Given the description of an element on the screen output the (x, y) to click on. 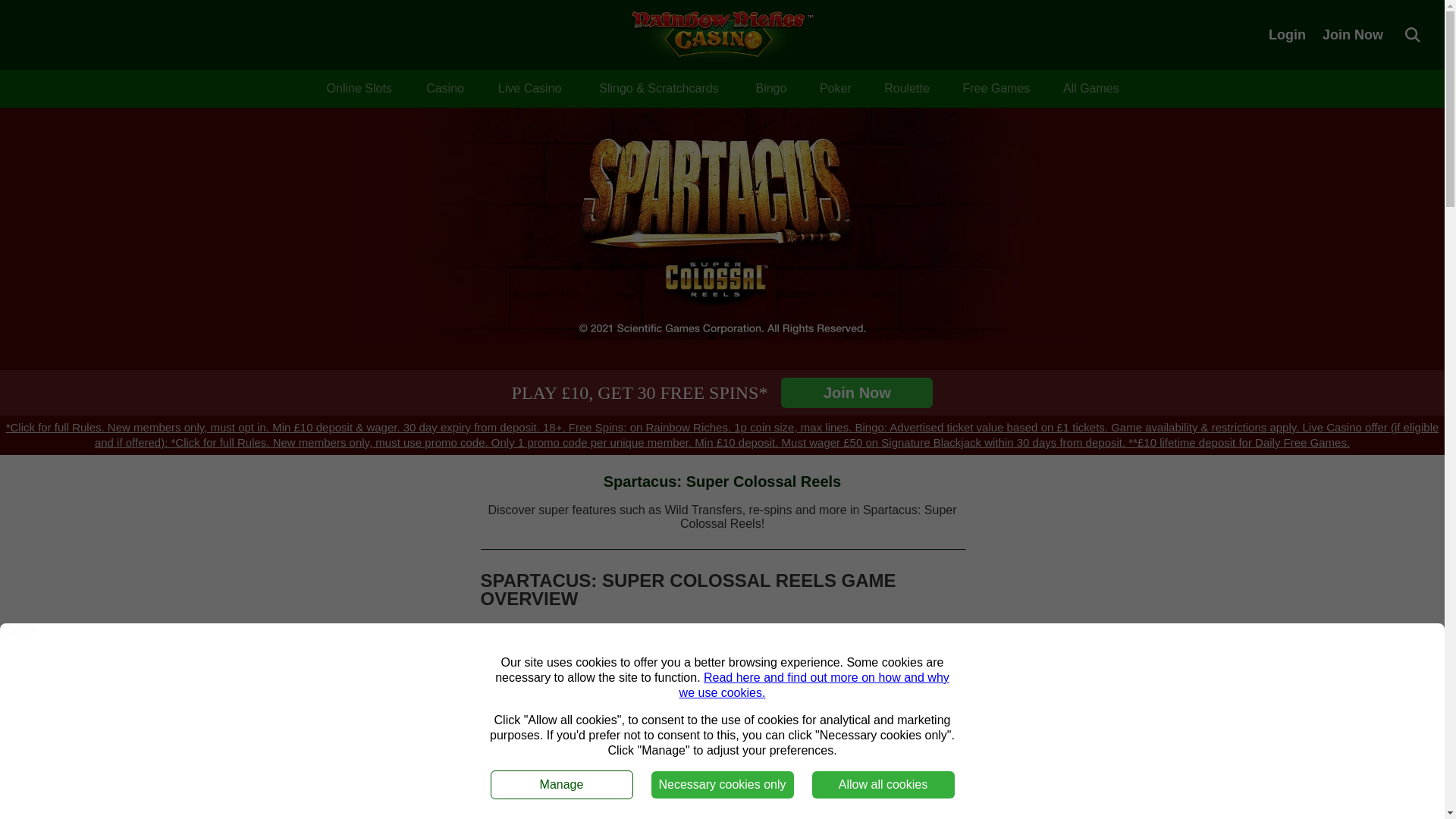
Join Now (1353, 34)
Casino (444, 88)
Casino (444, 88)
Bingo (770, 88)
Bingo (770, 88)
Poker (835, 88)
Login (1286, 34)
Read here and find out more on how and why we use cookies. (814, 684)
Join Now (856, 392)
Rainbow Riches Casino (721, 34)
Login (1286, 34)
Online Slots (358, 88)
Free Games (996, 88)
Roulette (906, 88)
Poker (835, 88)
